Given the description of an element on the screen output the (x, y) to click on. 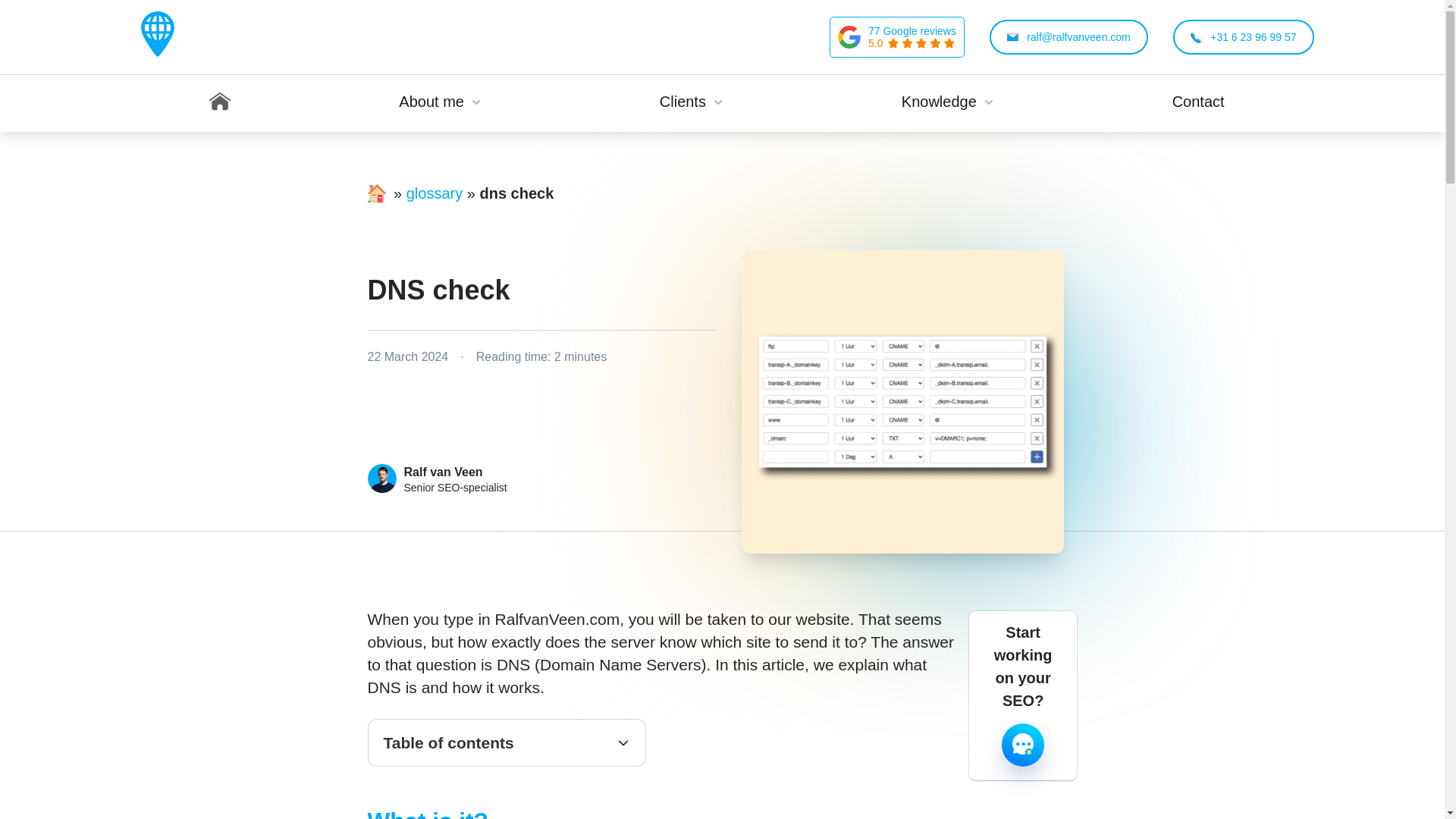
Ralf van Veen (442, 472)
glossary (434, 193)
Contact (1198, 103)
Knowledge (947, 103)
Contact (1198, 103)
Cases (690, 158)
General (947, 158)
home (385, 206)
Home (219, 103)
About me (438, 103)
